Given the description of an element on the screen output the (x, y) to click on. 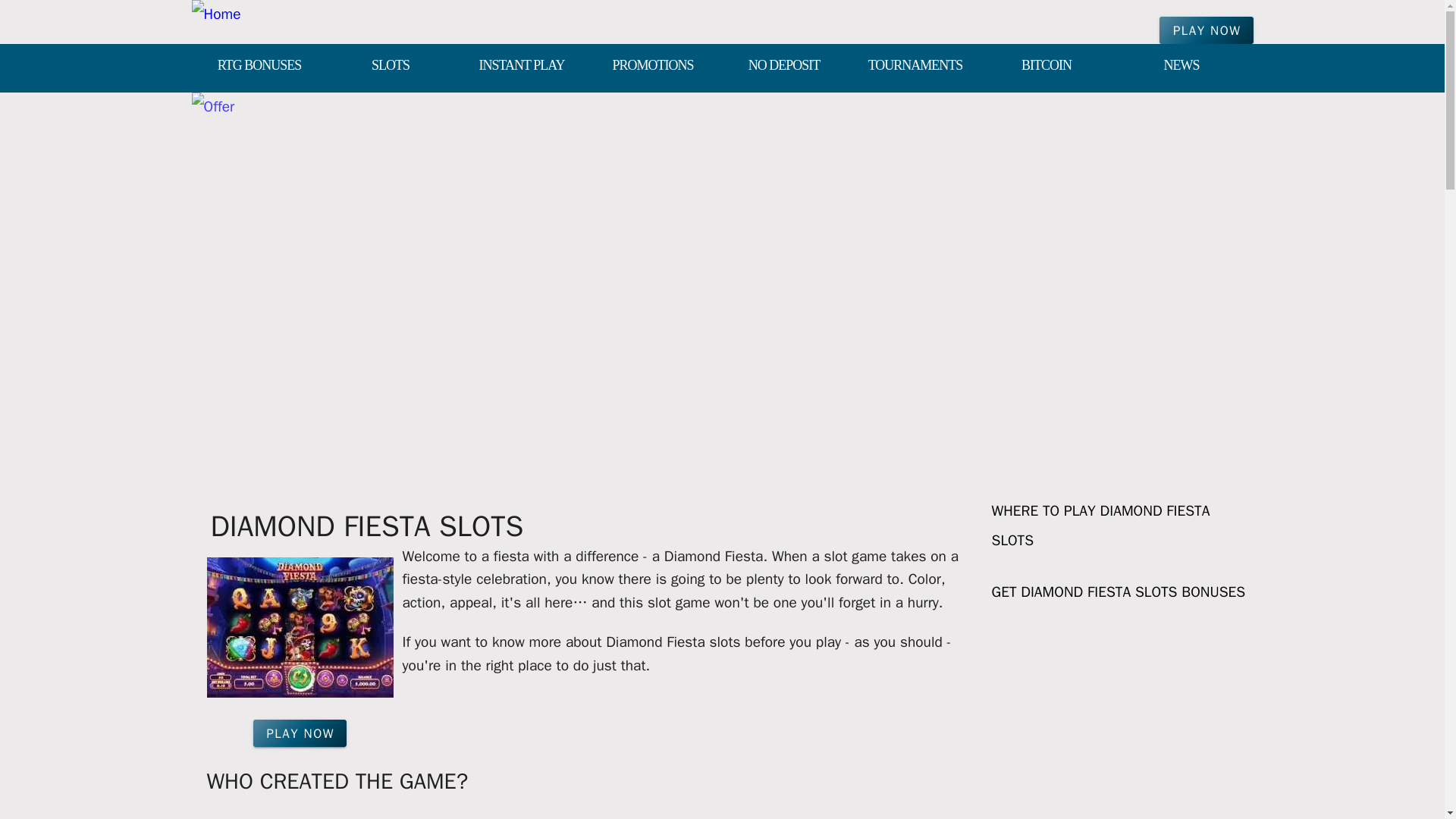
PLAY NOW (1205, 30)
NO DEPOSIT BONUSES (783, 66)
SLOTS (390, 66)
INSTANT PLAY (521, 66)
TOURNAMENTS (914, 66)
PROMOTIONS (652, 66)
PLAY NOW (299, 732)
BITCOIN (1046, 66)
RTG BONUSES (258, 66)
NEWS (1181, 66)
